Given the description of an element on the screen output the (x, y) to click on. 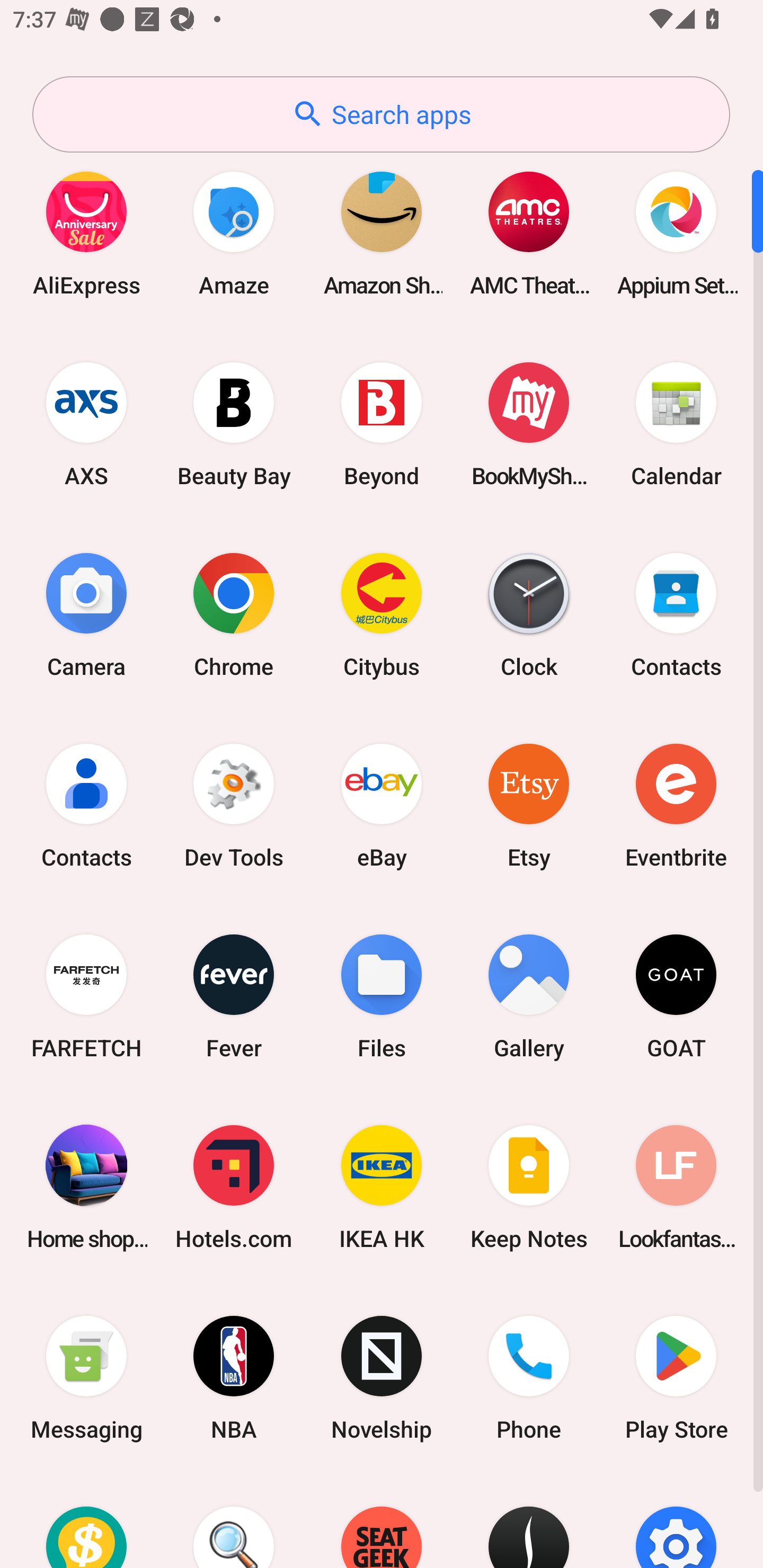
  Search apps (381, 114)
AliExpress (86, 233)
Amaze (233, 233)
Amazon Shopping (381, 233)
AMC Theatres (528, 233)
Appium Settings (676, 233)
AXS (86, 424)
Beauty Bay (233, 424)
Beyond (381, 424)
BookMyShow (528, 424)
Calendar (676, 424)
Camera (86, 614)
Chrome (233, 614)
Citybus (381, 614)
Clock (528, 614)
Contacts (676, 614)
Contacts (86, 805)
Dev Tools (233, 805)
eBay (381, 805)
Etsy (528, 805)
Eventbrite (676, 805)
FARFETCH (86, 996)
Fever (233, 996)
Files (381, 996)
Gallery (528, 996)
GOAT (676, 996)
Home shopping (86, 1186)
Hotels.com (233, 1186)
IKEA HK (381, 1186)
Keep Notes (528, 1186)
Lookfantastic (676, 1186)
Messaging (86, 1377)
NBA (233, 1377)
Novelship (381, 1377)
Phone (528, 1377)
Play Store (676, 1377)
